Given the description of an element on the screen output the (x, y) to click on. 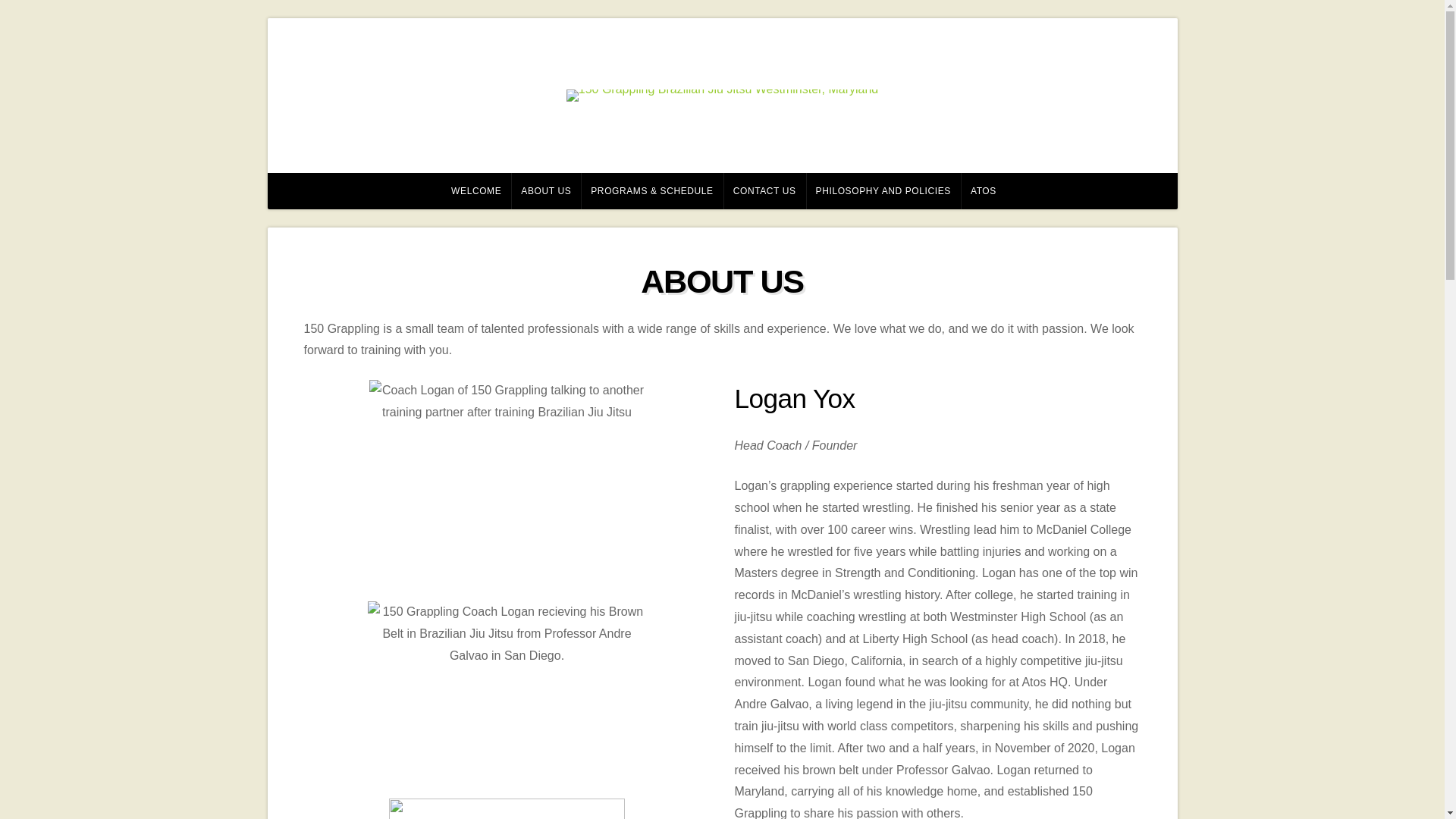
CONTACT US Element type: text (764, 190)
PROGRAMS & SCHEDULE Element type: text (651, 190)
WELCOME Element type: text (475, 190)
PHILOSOPHY AND POLICIES Element type: text (883, 190)
ATOS Element type: text (982, 190)
ABOUT US Element type: text (545, 190)
